Given the description of an element on the screen output the (x, y) to click on. 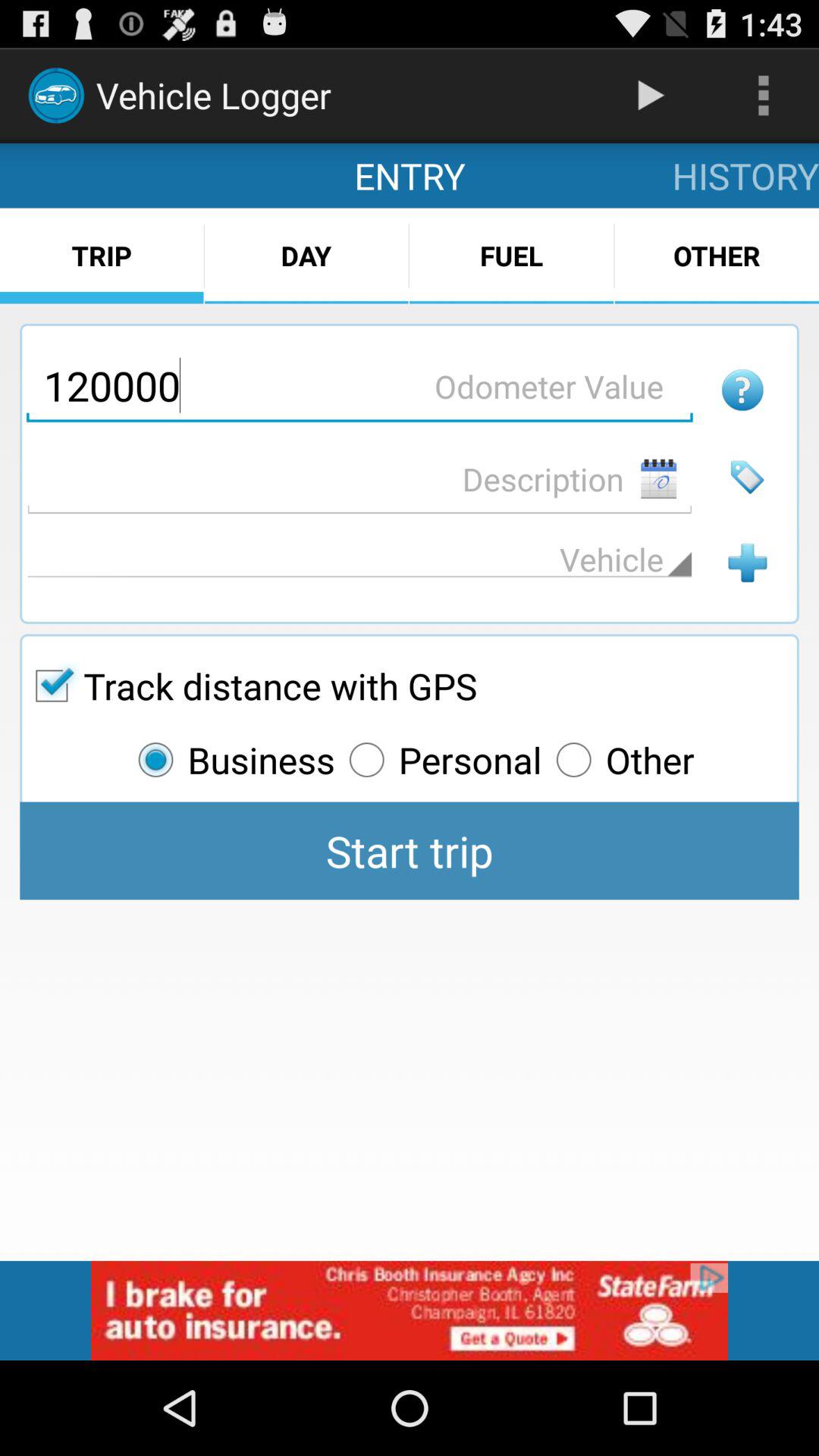
advertisement banner (409, 1310)
